Given the description of an element on the screen output the (x, y) to click on. 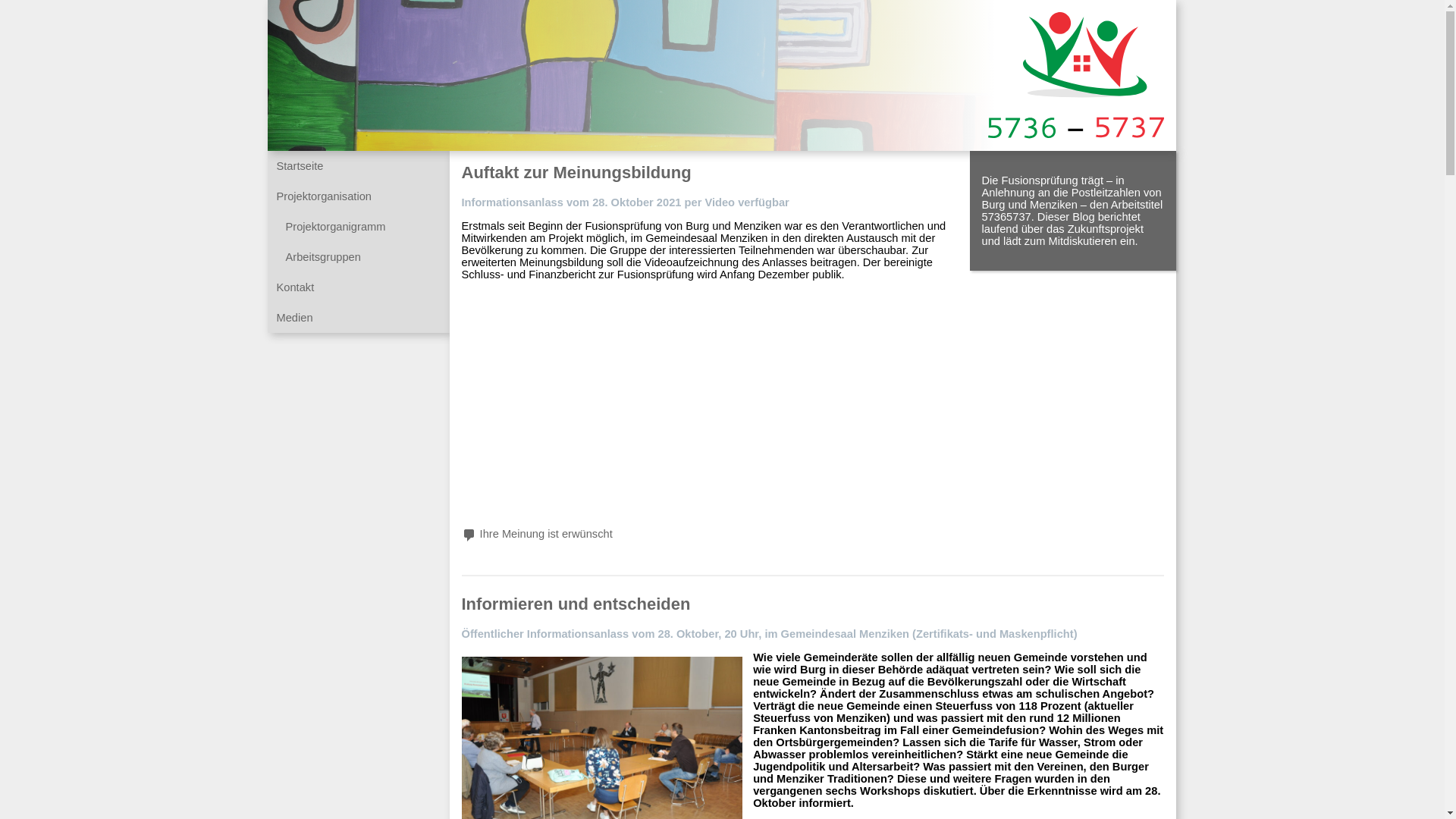
Informieren und entscheiden Element type: text (575, 603)
Startseite Element type: text (299, 166)
Medien Element type: text (294, 317)
Auftakt zur Meinungsbildung Element type: text (575, 172)
Infoabend Menziken Burg Element type: hover (680, 398)
Kontakt Element type: text (294, 287)
57365737 Element type: hover (1075, 130)
Projektorganisation Element type: text (323, 196)
Arbeitsgruppen Element type: text (322, 257)
Projektorganigramm Element type: text (335, 226)
